Given the description of an element on the screen output the (x, y) to click on. 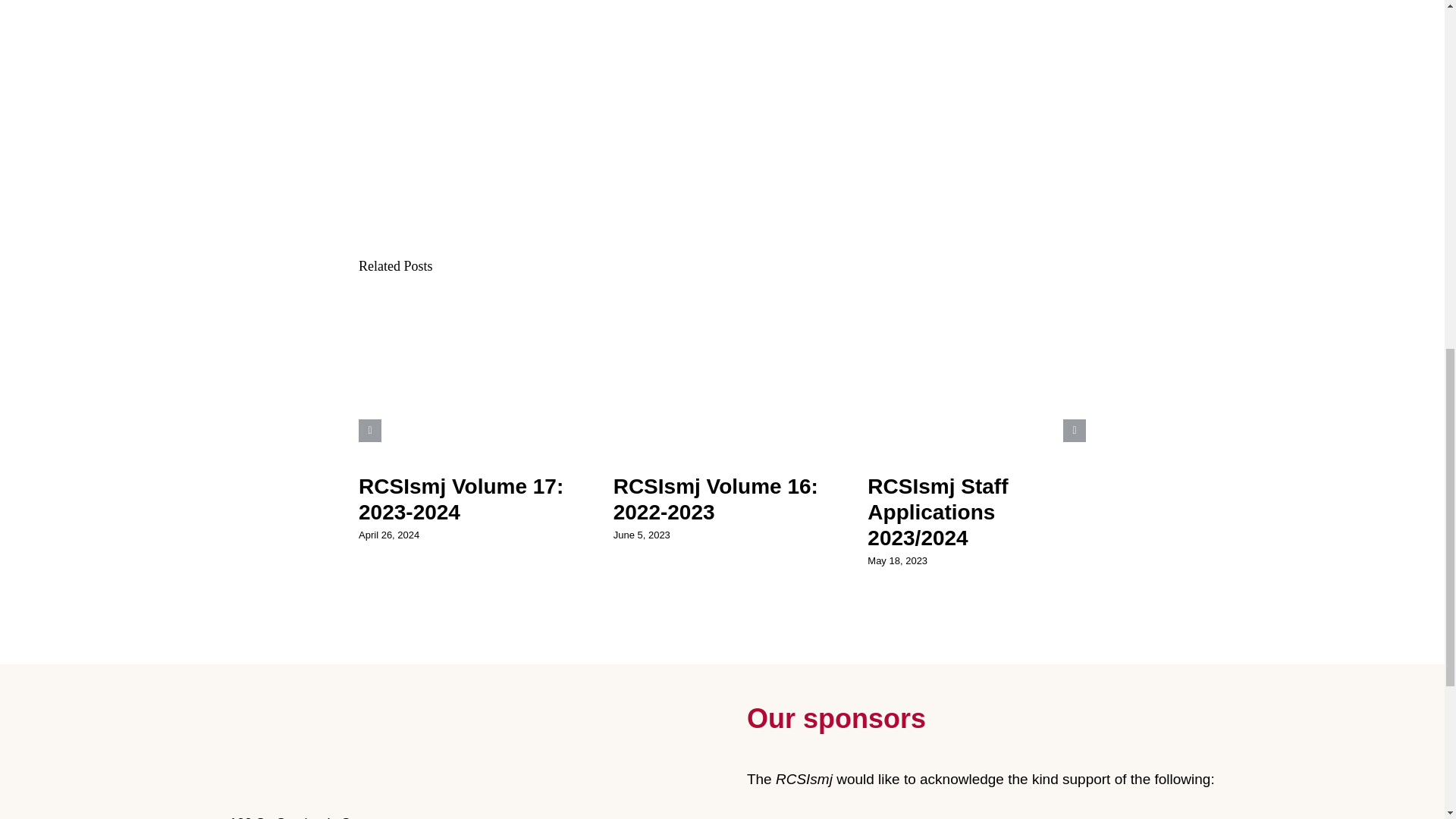
RCSIsmj Volume 17: 2023-2024 (460, 499)
SupportersLogos (980, 806)
RCSIsmj Volume 17: 2023-2024 (460, 499)
RCSIsmj Volume 16: 2022-2023 (715, 499)
